Given the description of an element on the screen output the (x, y) to click on. 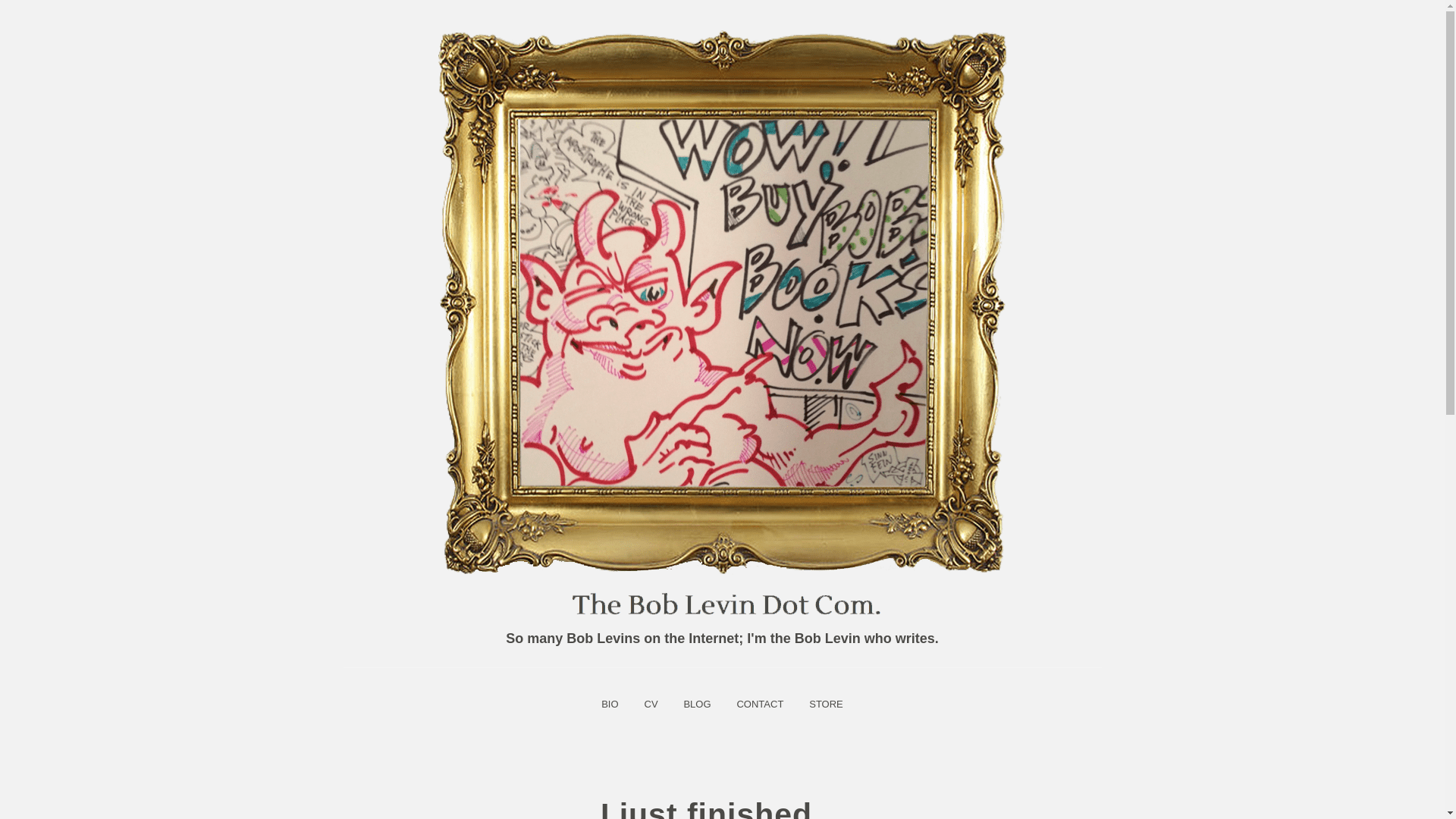
BLOG (696, 703)
CONTACT (759, 703)
BIO (608, 703)
STORE (825, 703)
CV (649, 703)
